Given the description of an element on the screen output the (x, y) to click on. 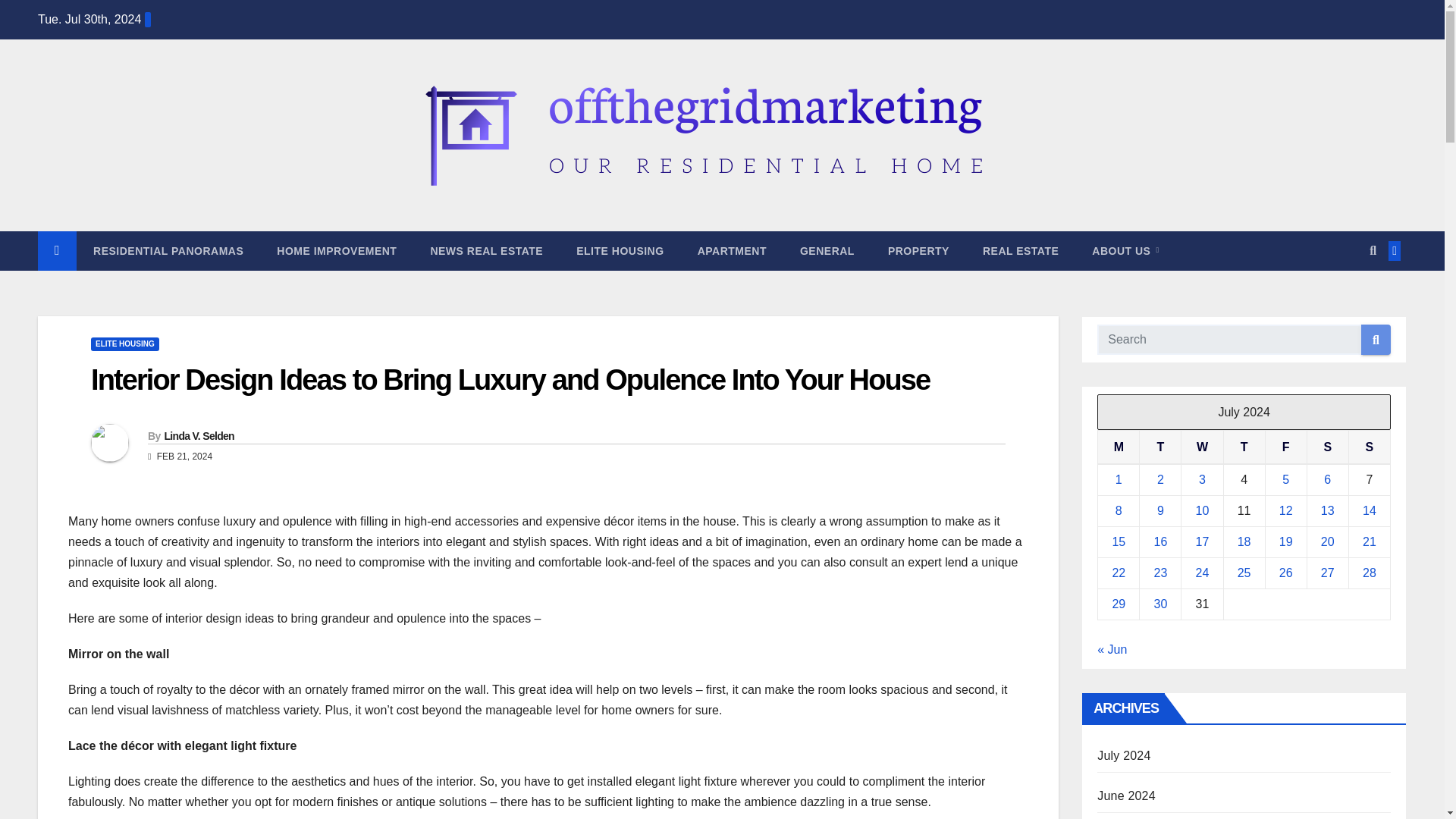
General (826, 250)
Property (918, 250)
About Us (1124, 250)
Residential Panoramas (168, 250)
ELITE HOUSING (619, 250)
NEWS REAL ESTATE (486, 250)
Linda V. Selden (197, 435)
Elite Housing (619, 250)
RESIDENTIAL PANORAMAS (168, 250)
GENERAL (826, 250)
HOME IMPROVEMENT (336, 250)
ELITE HOUSING (124, 344)
Apartment (732, 250)
PROPERTY (918, 250)
